Given the description of an element on the screen output the (x, y) to click on. 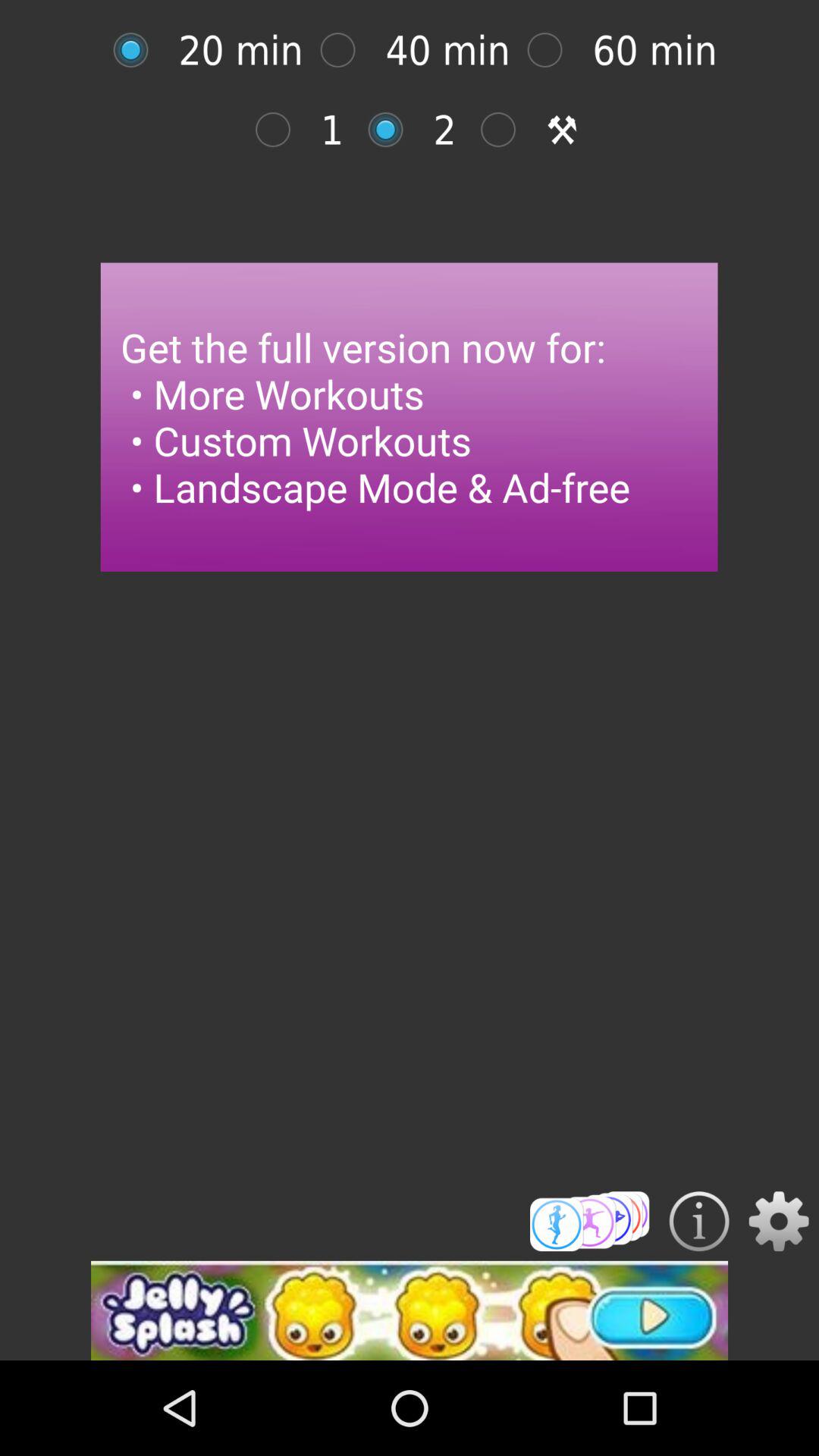
select option (552, 49)
